Given the description of an element on the screen output the (x, y) to click on. 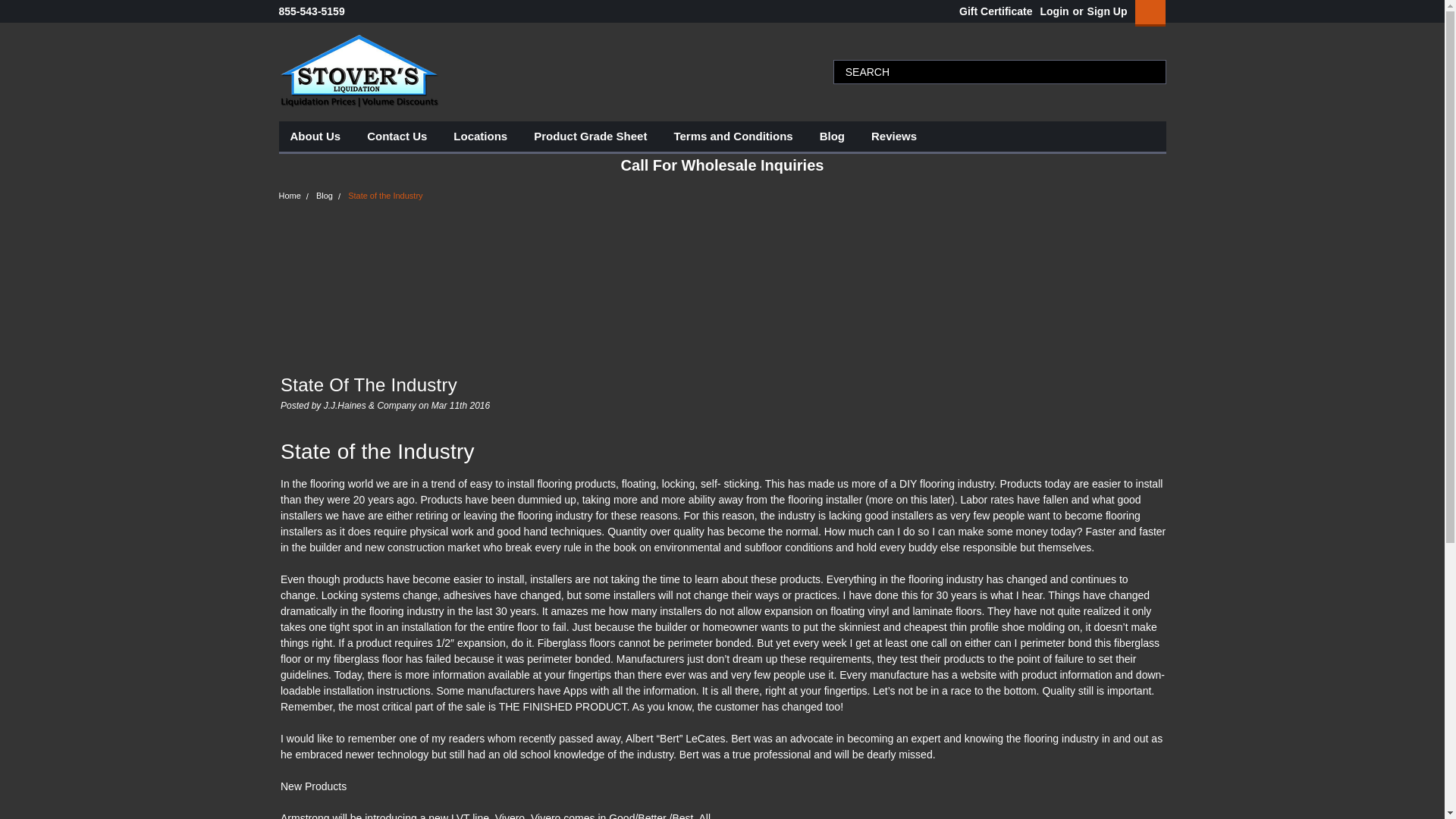
submit (1150, 71)
Stover's Liquidation (359, 71)
Login (1054, 11)
Sign Up (1104, 11)
Gift Certificate (992, 11)
